Given the description of an element on the screen output the (x, y) to click on. 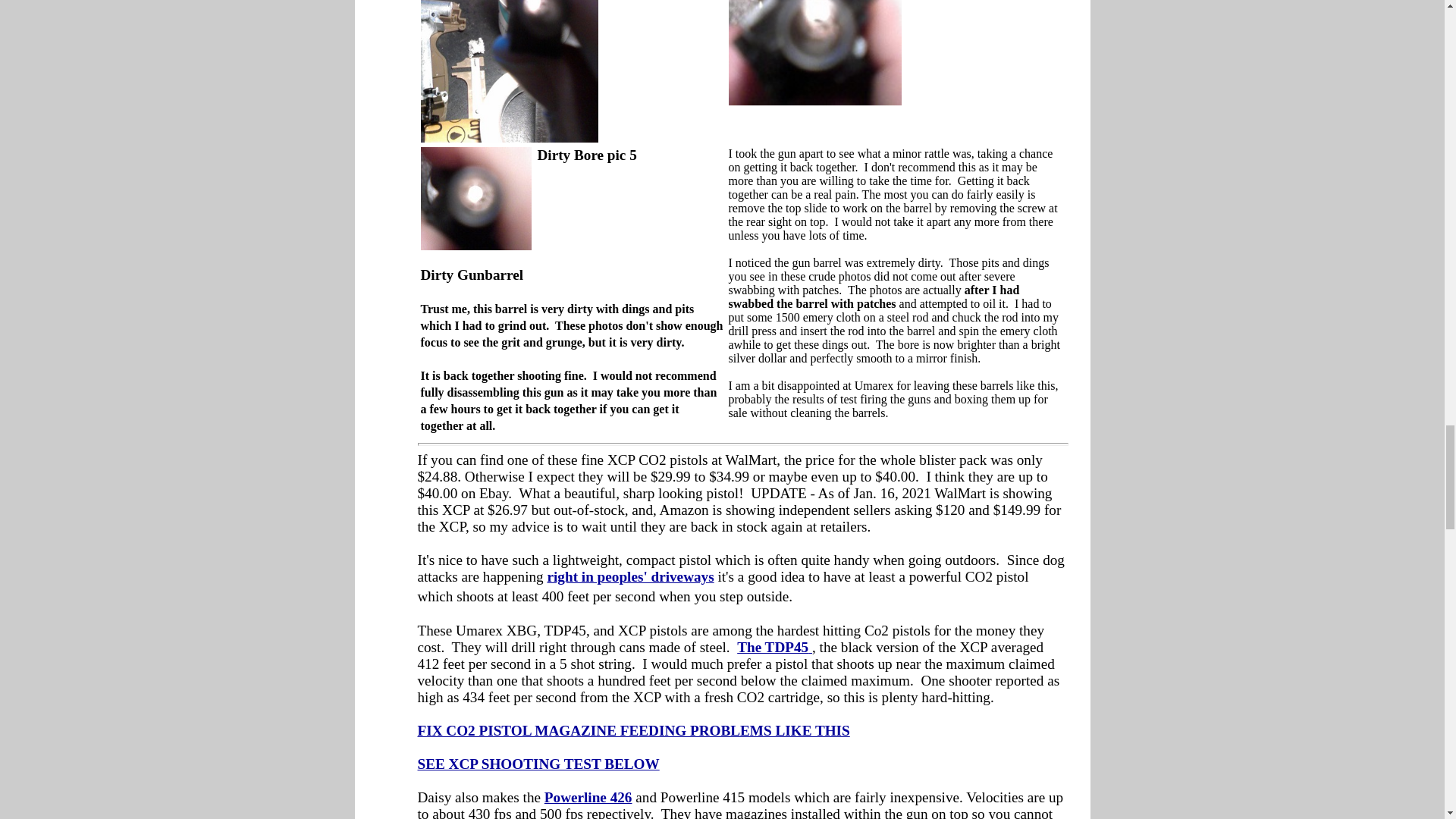
SEE XCP SHOOTING TEST BELOW (537, 763)
The TDP45 (772, 647)
Powerline 426 (587, 797)
FIX CO2 PISTOL MAGAZINE FEEDING PROBLEMS LIKE THIS (632, 730)
right in peoples' driveways (630, 576)
